Given the description of an element on the screen output the (x, y) to click on. 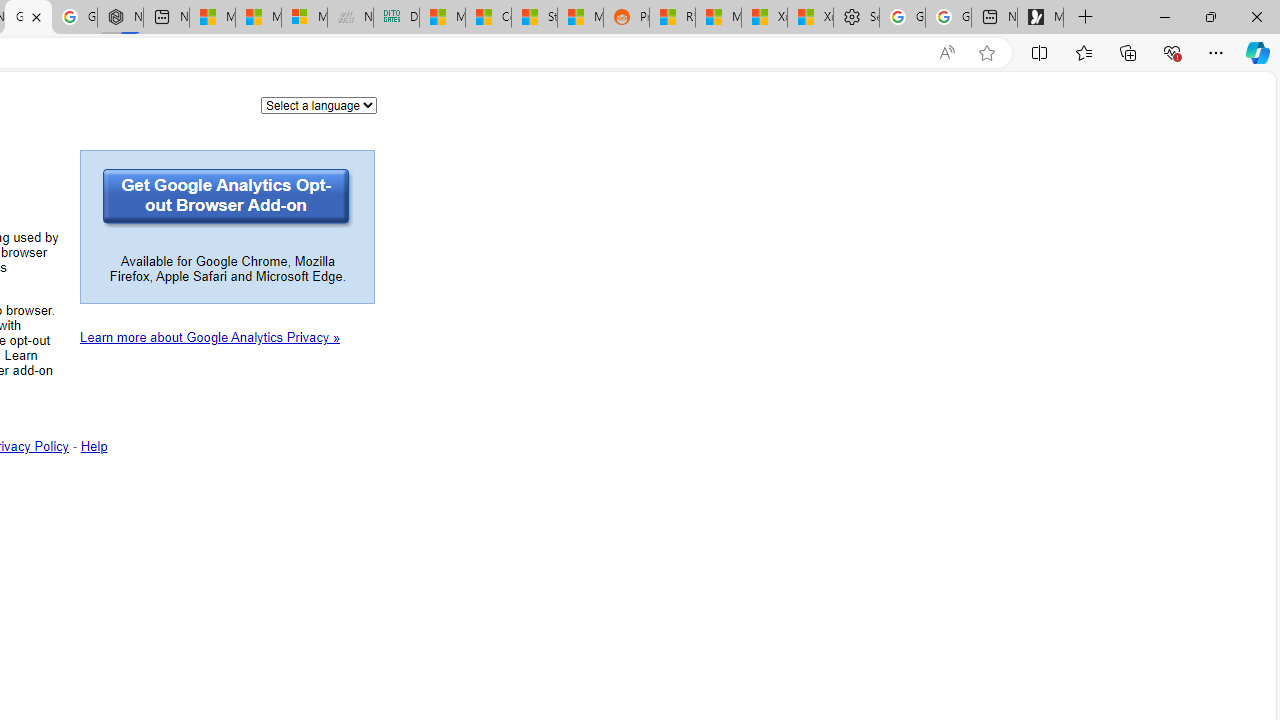
R******* | Trusted Community Engagement and Contributions (672, 17)
Language (319, 104)
Get Google Analytics Opt-out Browser Add-on (227, 198)
